Given the description of an element on the screen output the (x, y) to click on. 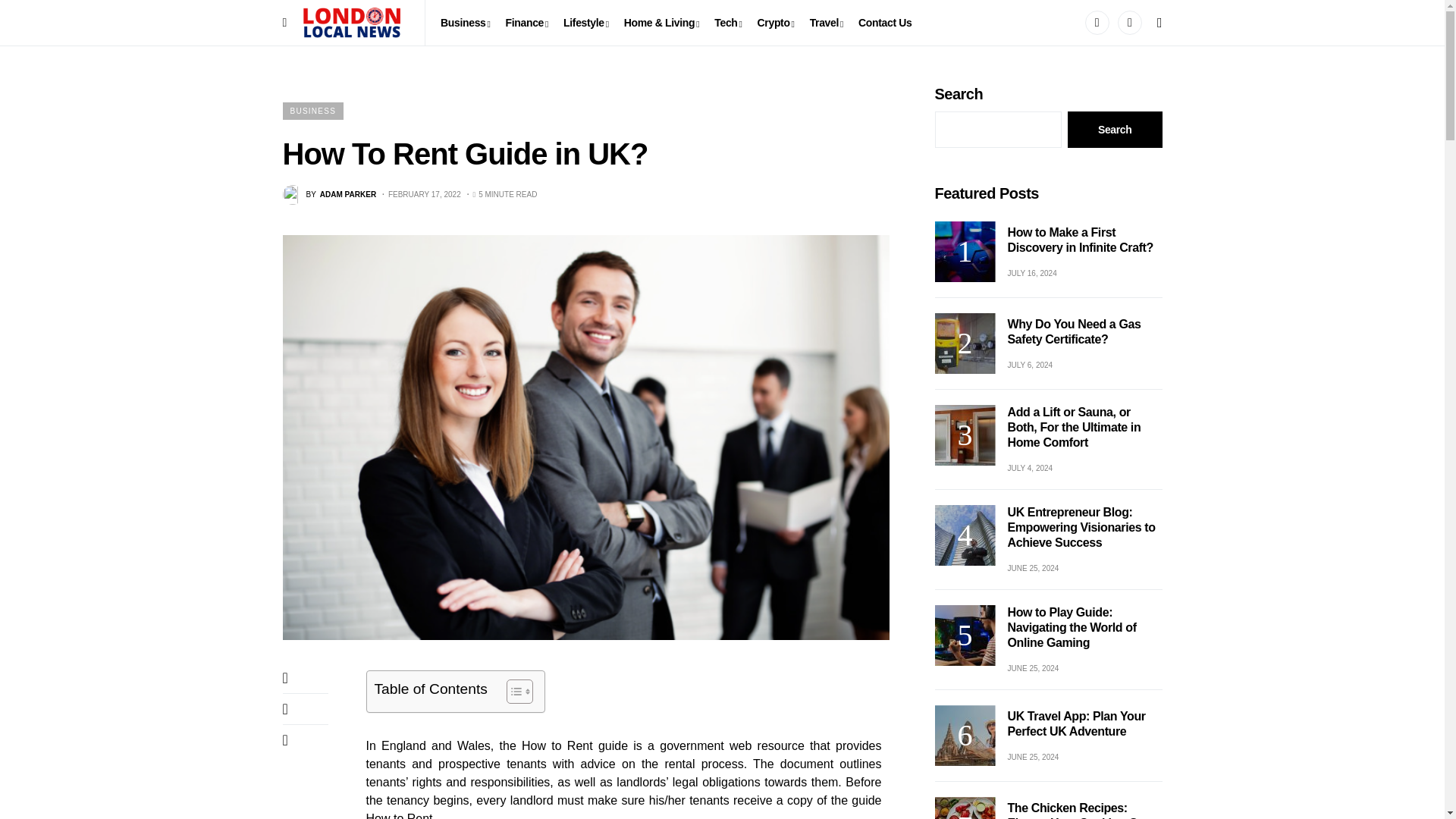
Finance (526, 22)
Business (465, 22)
View all posts by Adam Parker (328, 194)
